Given the description of an element on the screen output the (x, y) to click on. 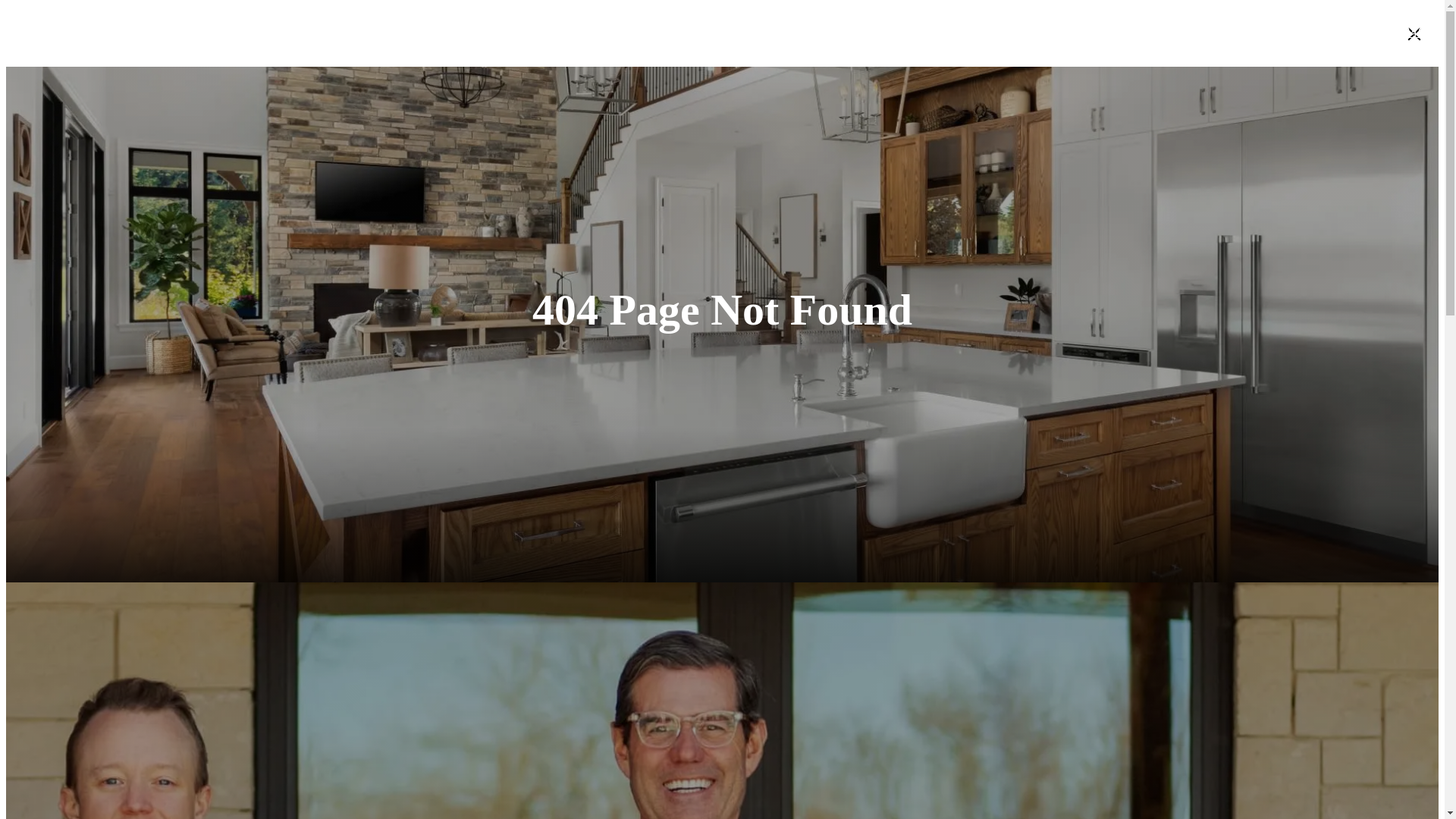
Our Properties (145, 31)
Menu (24, 32)
Home Search (253, 31)
Menu (34, 32)
Contact Us (1282, 31)
